Given the description of an element on the screen output the (x, y) to click on. 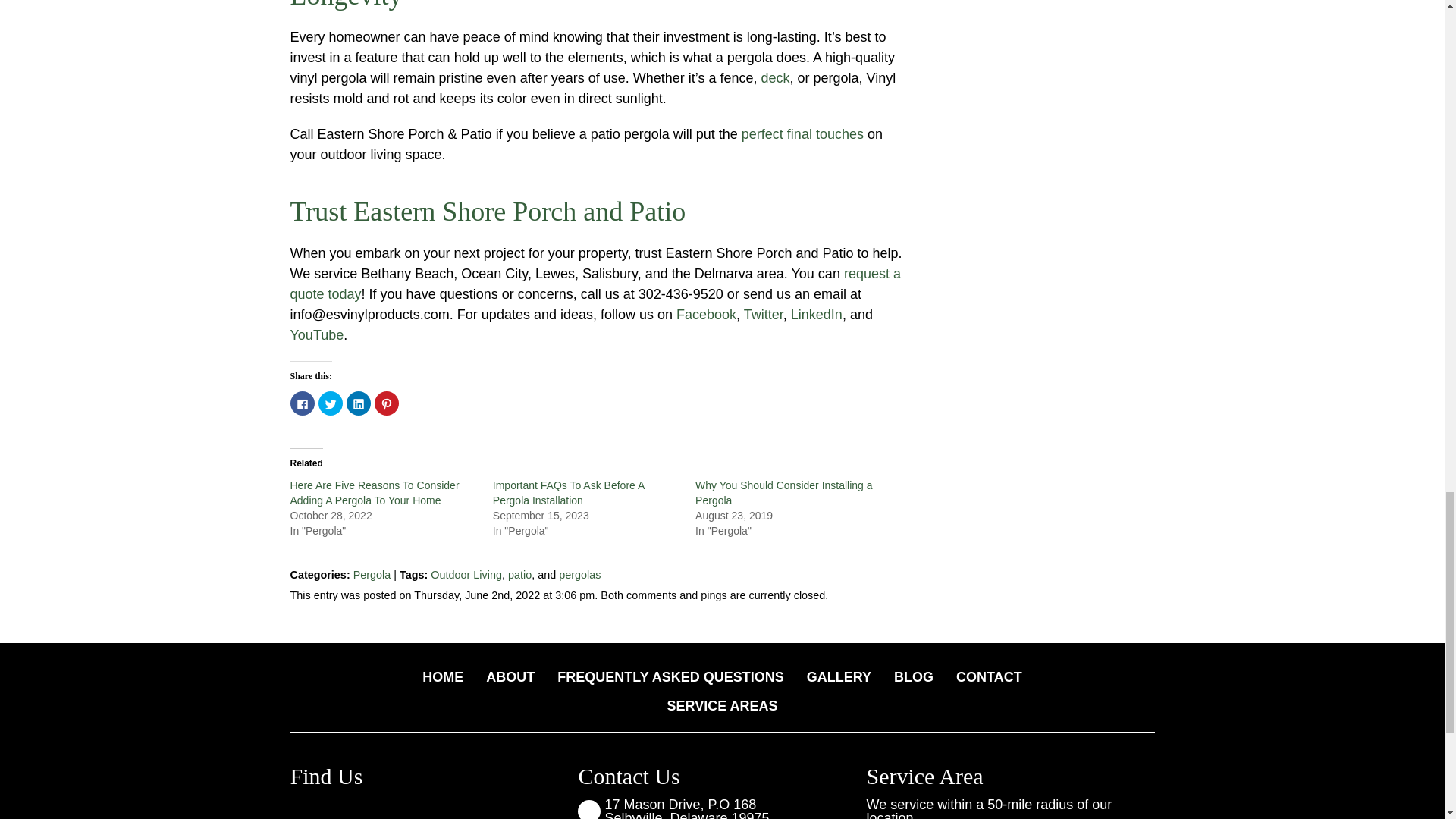
Click to share on LinkedIn (357, 403)
Click to share on Twitter (330, 403)
Click to share on Pinterest (386, 403)
Click to share on Facebook (301, 403)
